Given the description of an element on the screen output the (x, y) to click on. 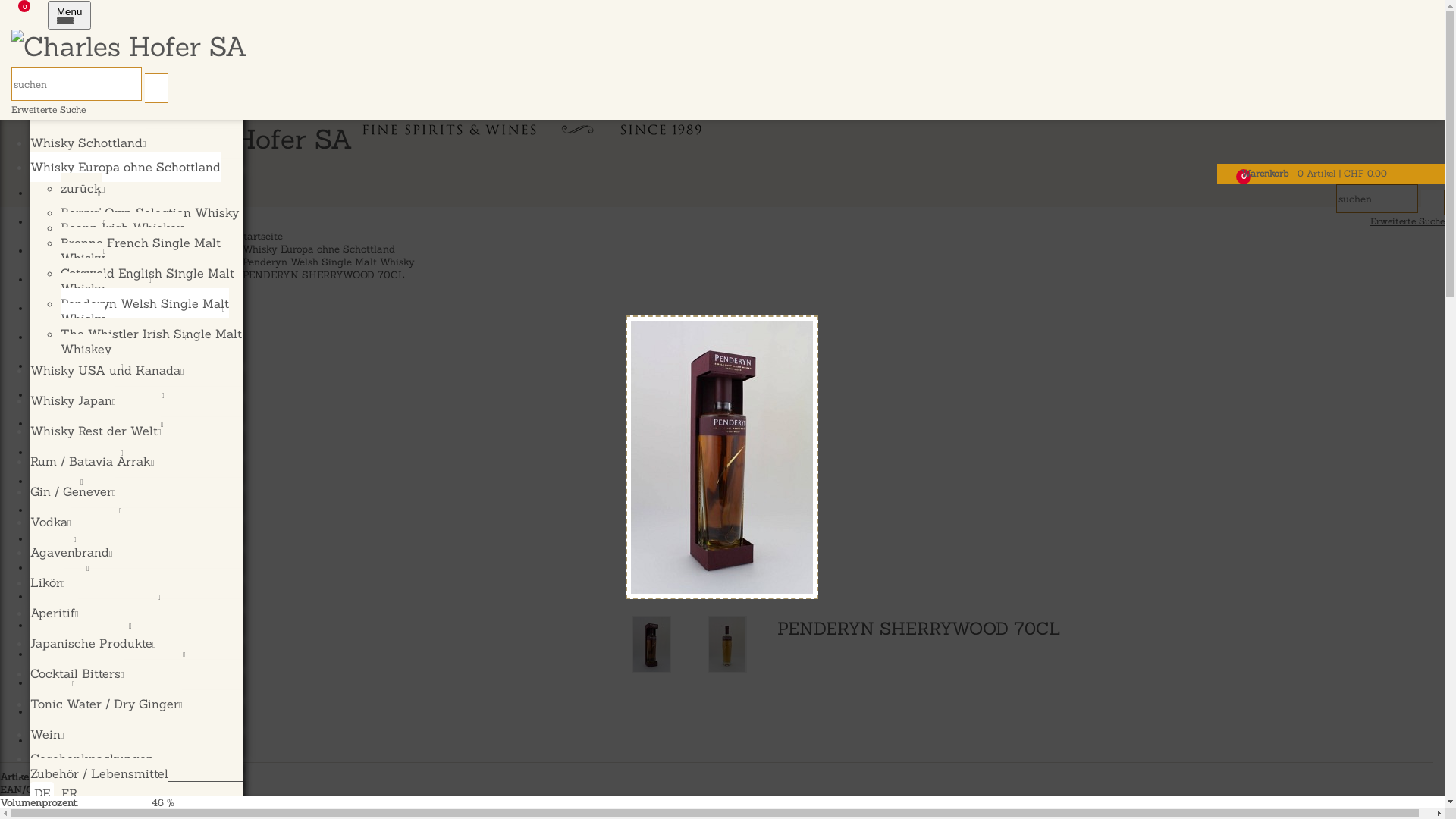
Aperitif Element type: text (54, 612)
Agavenbrand Element type: text (71, 551)
Whisky Rest der Welt Element type: text (95, 430)
Japanische Produkte Element type: text (92, 642)
Wein Element type: text (46, 733)
Japanische Produkte Element type: text (101, 597)
Whisky Europa ohne Schottland Element type: text (318, 248)
FR Element type: text (69, 792)
Anmelden Element type: text (21, 54)
Whisky Japan Element type: text (72, 400)
Whisky Schottland Element type: text (87, 142)
Obstbrand Element type: text (63, 112)
Berrys' Own Selection Whisky Element type: text (149, 212)
Agavenbrand Element type: text (81, 511)
Geschenkpackungen Element type: text (91, 758)
Warenkorb Element type: text (1267, 172)
Whisky Europa ohne Schottland Element type: text (133, 309)
Vodka Element type: text (50, 521)
Whisky USA und Kanada Element type: text (114, 338)
Geschenkpackungen Element type: text (97, 712)
Rum / Batavia Arrak Element type: text (91, 460)
Vodka Element type: text (62, 482)
0 Artikel | CHF 0.00 Element type: text (1341, 172)
Rum / Batavia Arrak Element type: text (102, 424)
Weinbrand Element type: text (63, 81)
Aperitif Element type: text (65, 568)
Erweiterte Suche Element type: text (48, 108)
Tonic Water / Dry Ginger Element type: text (106, 703)
Gin / Genever Element type: text (82, 453)
Brenne French Single Malt Whisky Element type: text (140, 250)
Cocktail Bitters Element type: text (76, 673)
Whisky Europa ohne Schottland Element type: text (125, 166)
Whisky Japan Element type: text (82, 366)
Cocktail Bitters Element type: text (86, 626)
Penderyn Welsh Single Malt Whisky Element type: text (328, 261)
Boann Irish Whiskey Element type: text (121, 227)
Tonic Water / Dry Ginger Element type: text (113, 655)
Whisky USA und Kanada Element type: text (106, 369)
Menu Element type: text (69, 14)
Penderyn Welsh Single Malt Whisky Element type: text (144, 310)
Startseite Element type: text (259, 235)
Erweiterte Suche Element type: text (1407, 220)
The Whistler Irish Single Malt Whiskey Element type: text (150, 341)
Whisky Schottland Element type: text (96, 280)
Weinbrand Element type: text (73, 222)
Whisky Rest der Welt Element type: text (102, 395)
Wein Element type: text (58, 683)
Gin / Genever Element type: text (72, 491)
Cotswold English Single Malt Whisky Element type: text (147, 280)
DE Element type: text (41, 792)
Obstbrand Element type: text (73, 251)
